Given the description of an element on the screen output the (x, y) to click on. 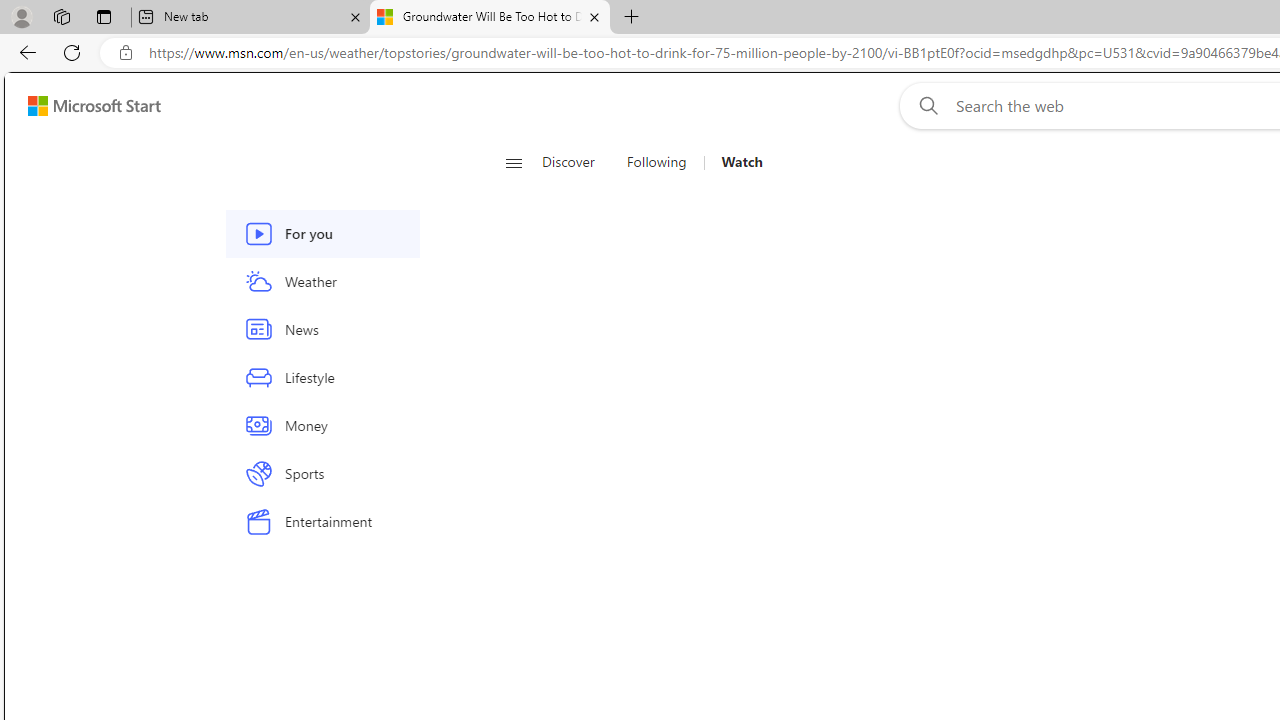
Open navigation menu (513, 162)
Class: button-glyph (513, 162)
